Given the description of an element on the screen output the (x, y) to click on. 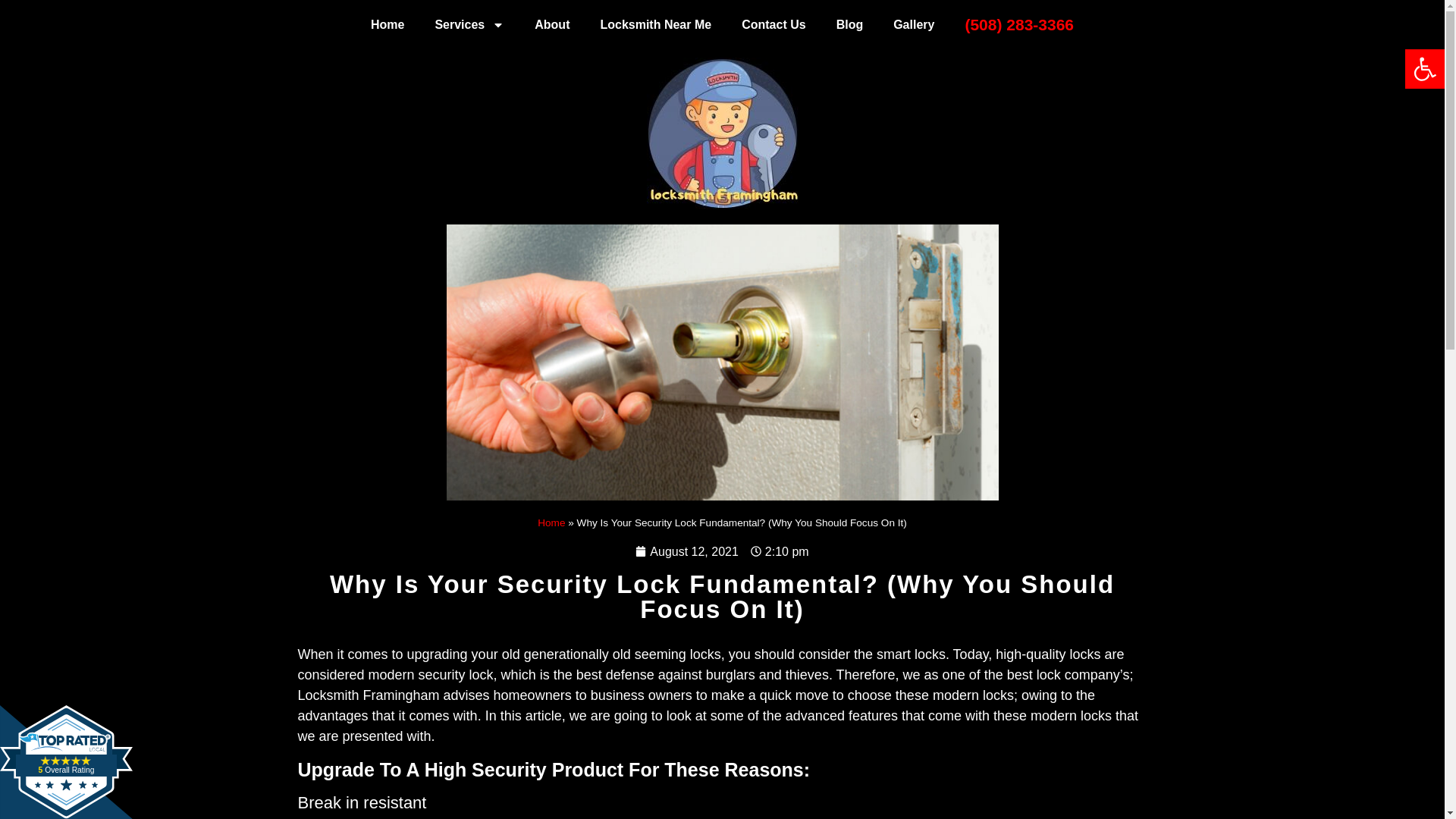
Locksmith Near Me (655, 24)
About (552, 24)
Accessibility Tools (1424, 68)
Contact Us (773, 24)
Blog (850, 24)
Services (66, 762)
Home (469, 24)
Gallery (387, 24)
